Given the description of an element on the screen output the (x, y) to click on. 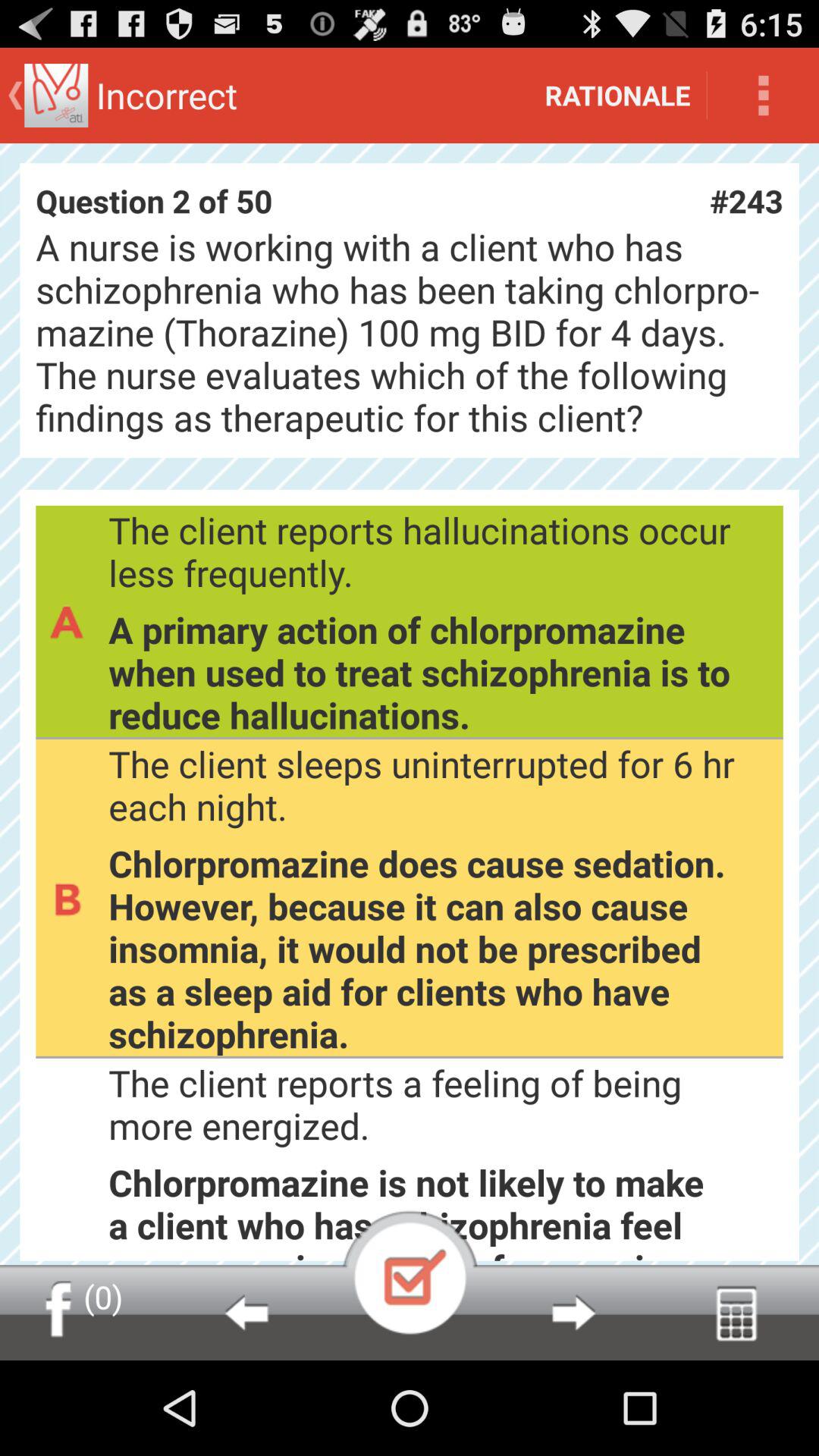
pull up dial pad (736, 1312)
